Given the description of an element on the screen output the (x, y) to click on. 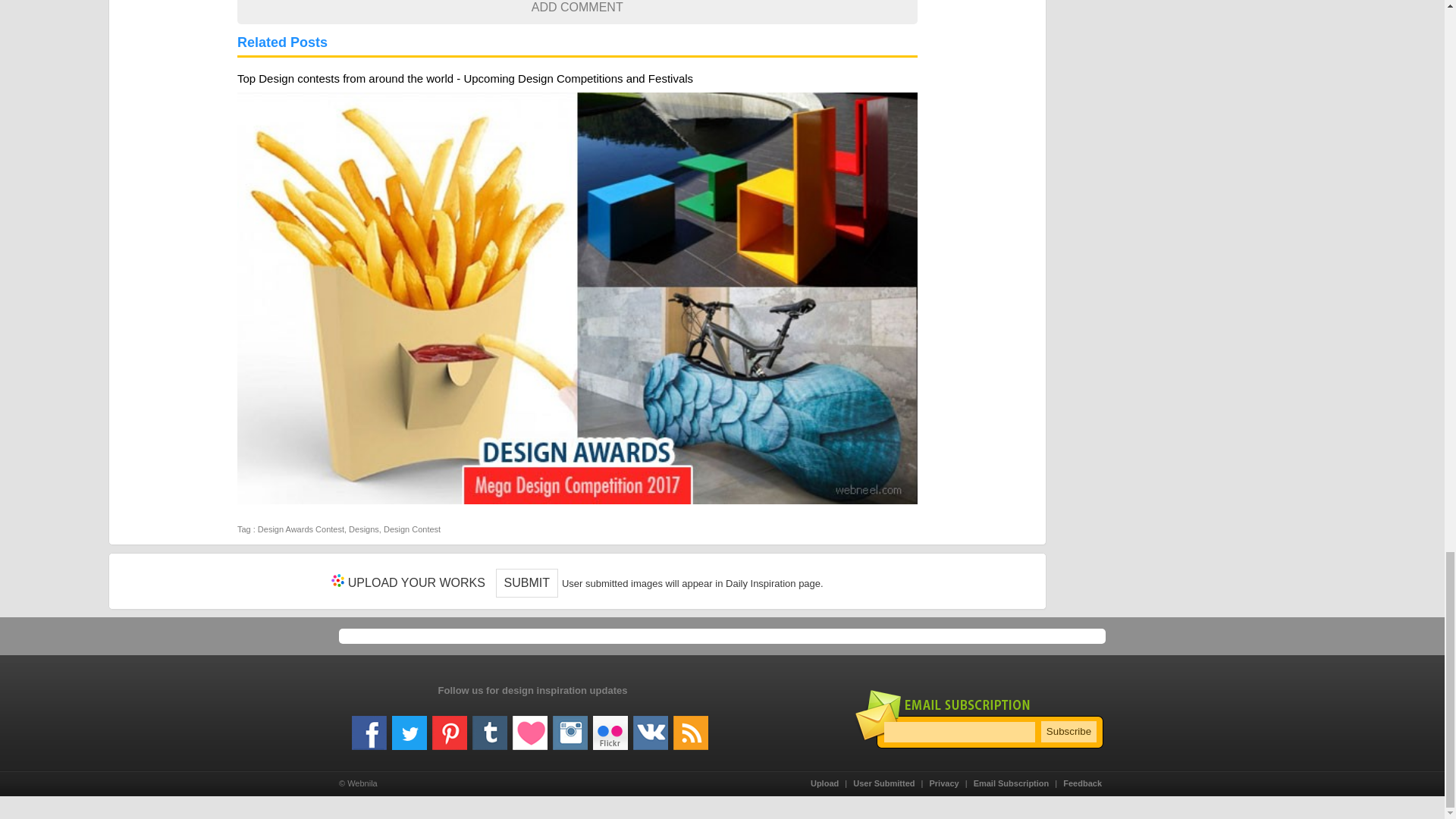
Subscribe (1068, 731)
